Given the description of an element on the screen output the (x, y) to click on. 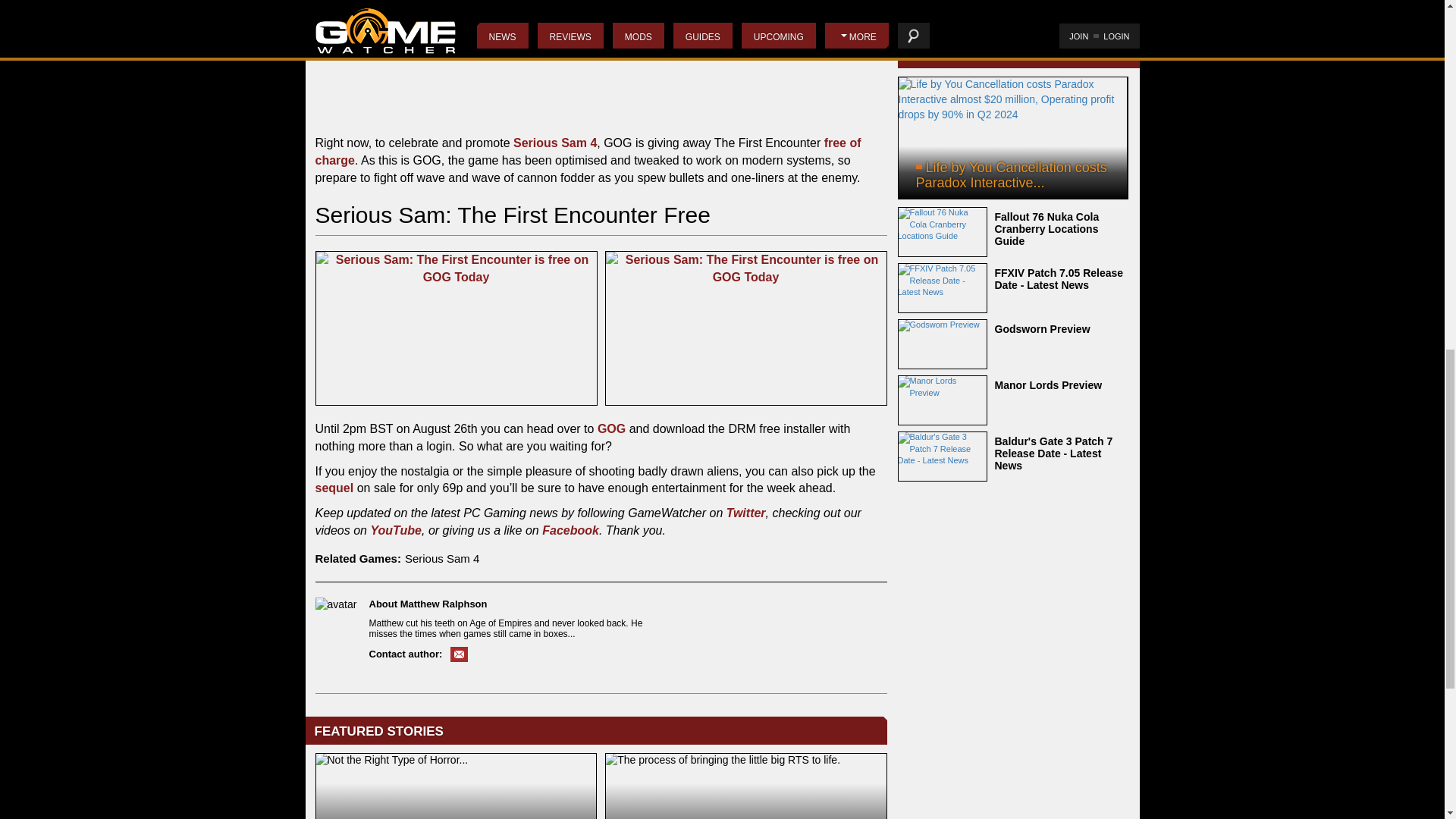
sequel (334, 487)
Serious Sam 4 (554, 142)
GOG (611, 428)
Twitter (745, 512)
free of charge (588, 151)
